Given the description of an element on the screen output the (x, y) to click on. 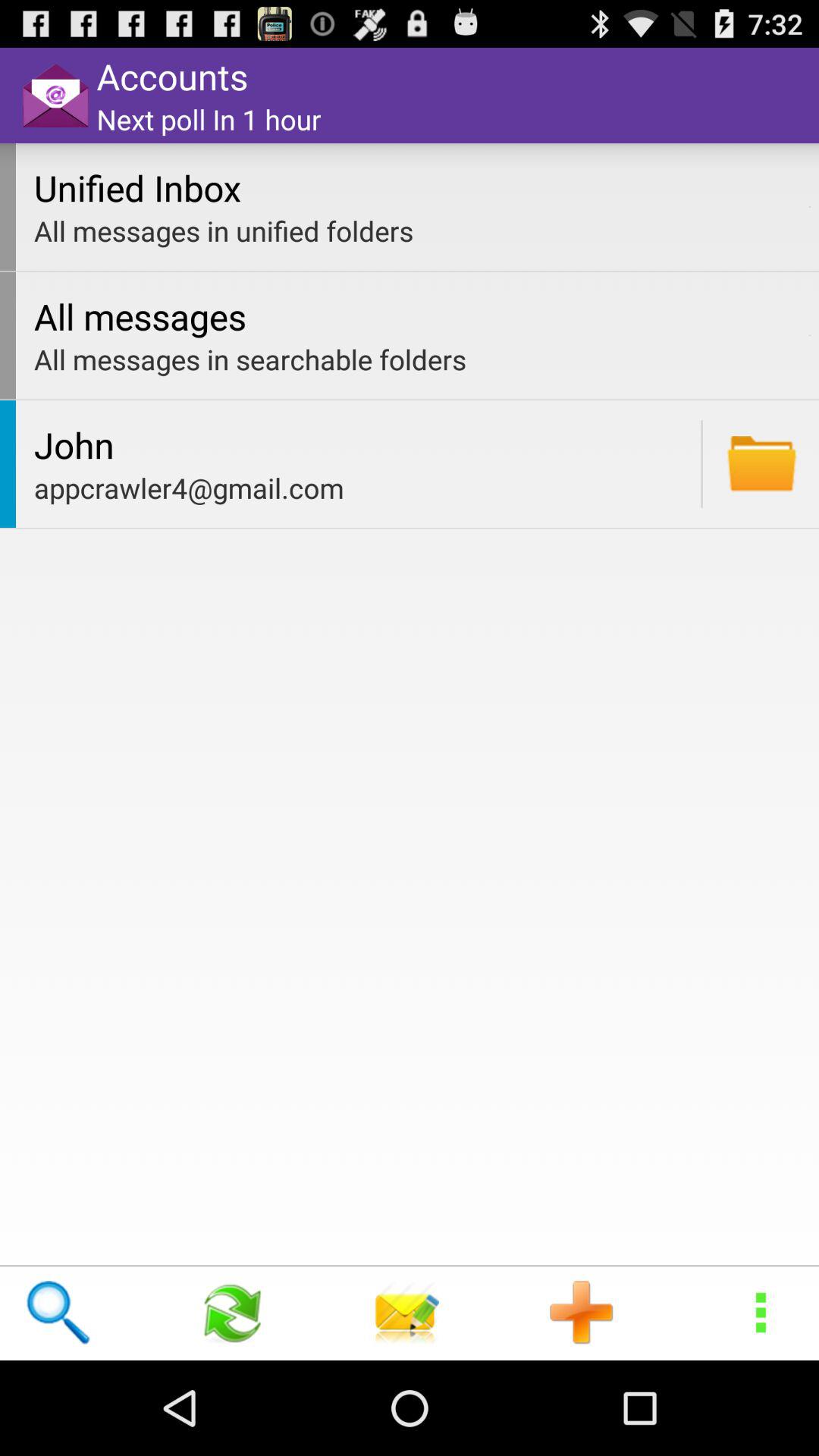
add to folder (761, 463)
